Given the description of an element on the screen output the (x, y) to click on. 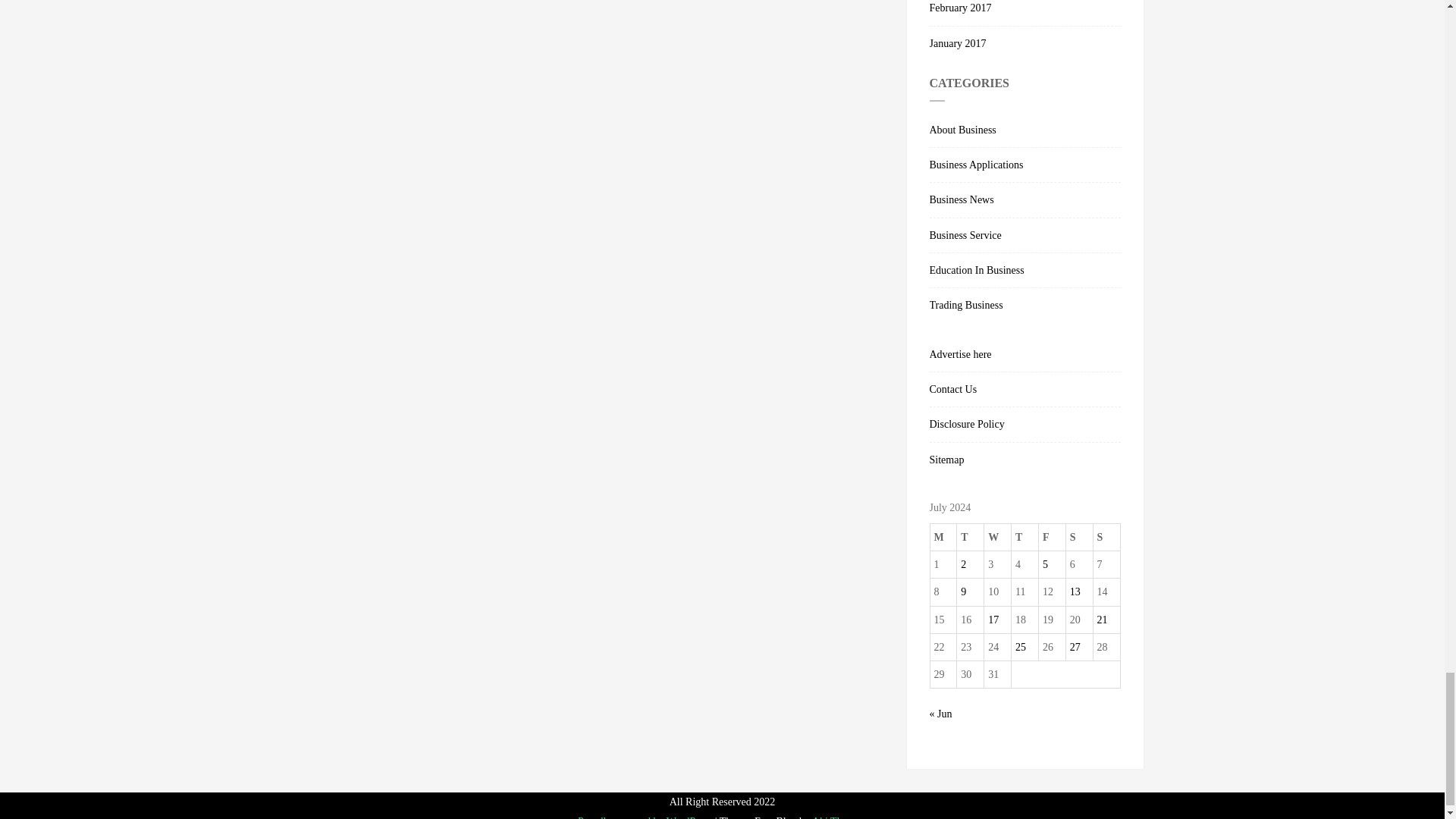
Friday (1051, 536)
Monday (943, 536)
Thursday (1025, 536)
Wednesday (997, 536)
Tuesday (970, 536)
Saturday (1079, 536)
Sunday (1106, 536)
